Given the description of an element on the screen output the (x, y) to click on. 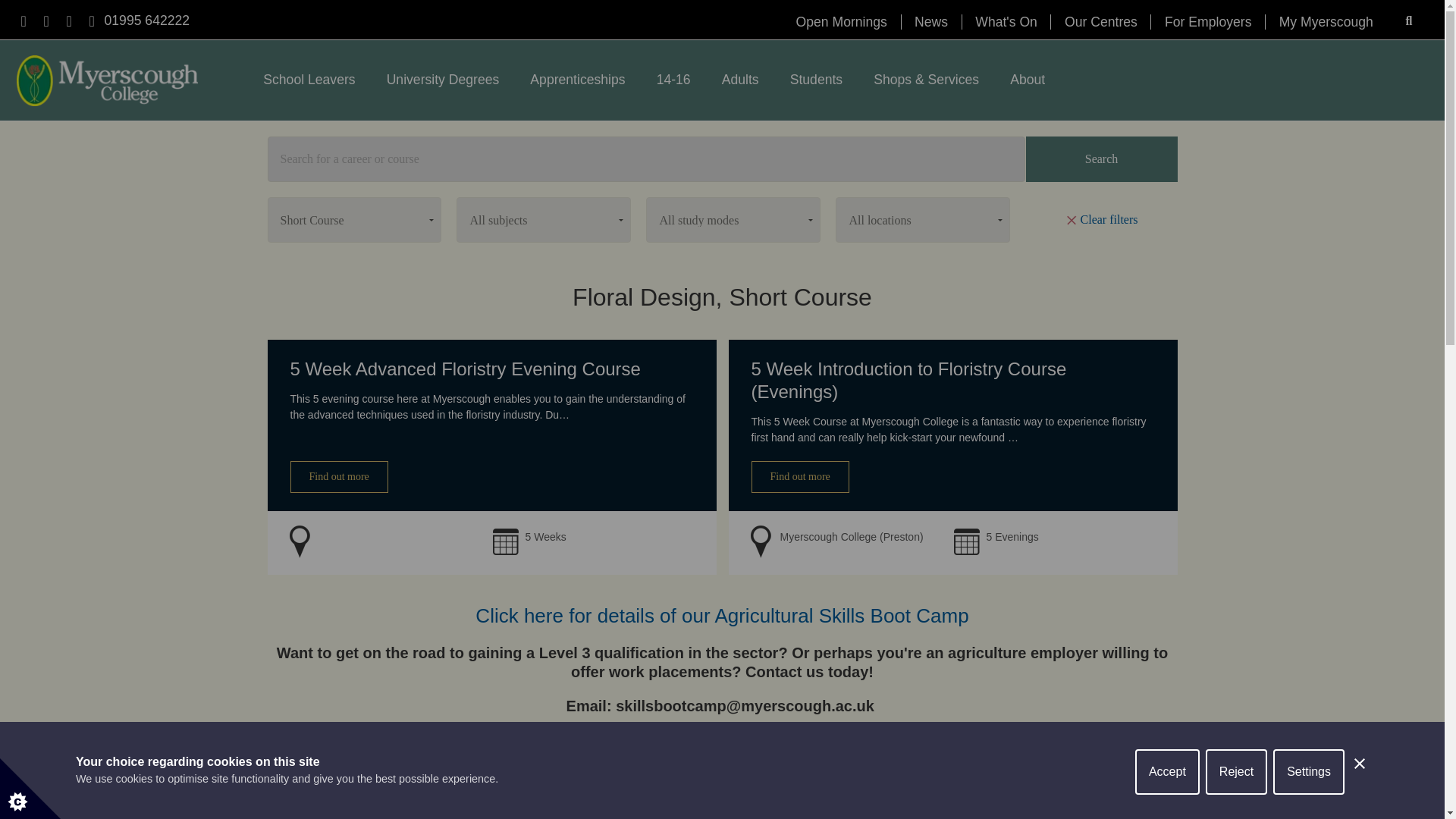
Accept (1167, 817)
Email (91, 21)
Settings (1307, 804)
Reject (1235, 812)
Phone (147, 20)
